Given the description of an element on the screen output the (x, y) to click on. 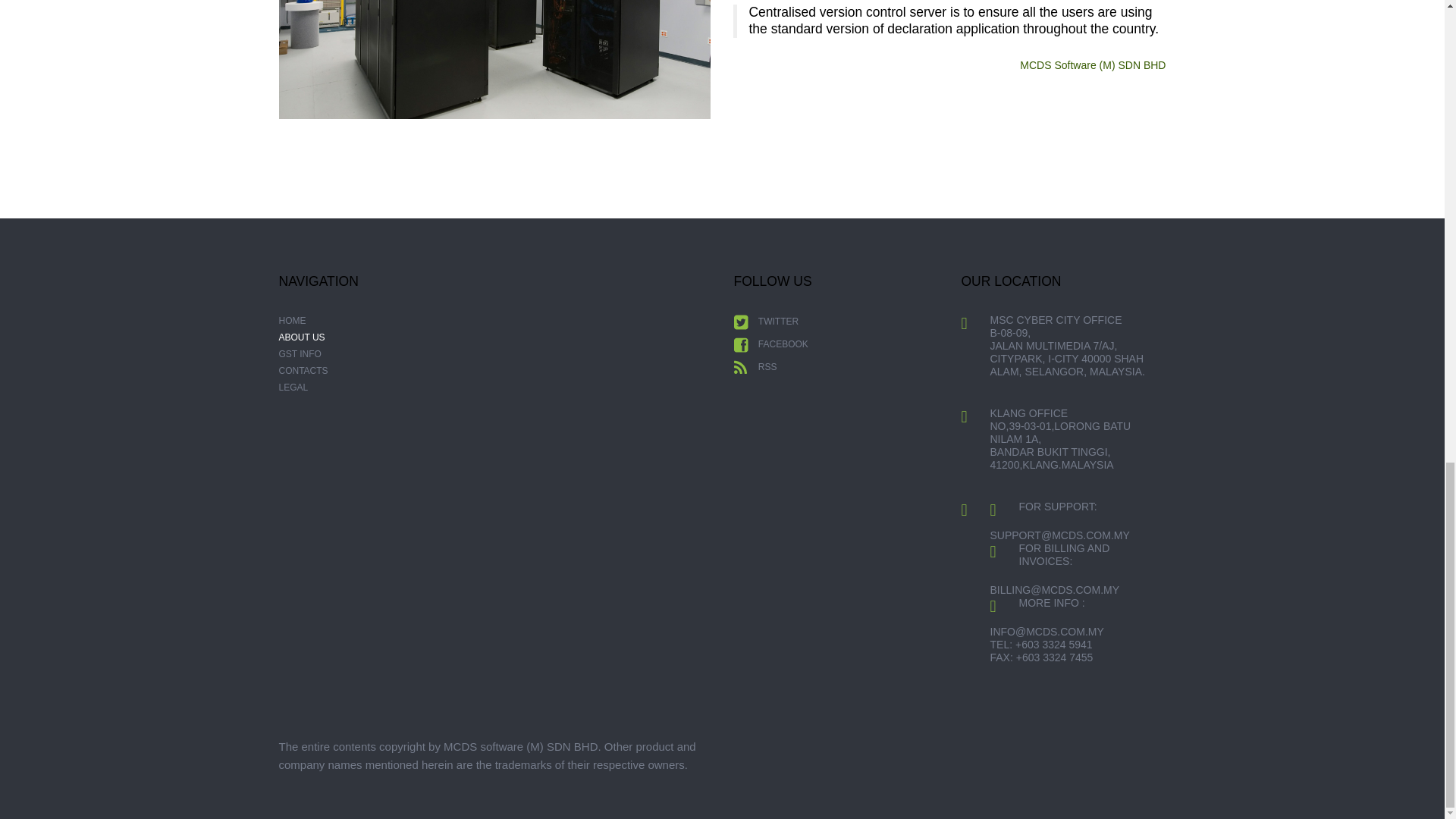
GST INFO (300, 353)
FACEBOOK (770, 344)
HOME (292, 320)
RSS (755, 367)
CONTACTS (304, 370)
ABOUT US (301, 337)
LEGAL (293, 387)
TWITTER (766, 322)
